Given the description of an element on the screen output the (x, y) to click on. 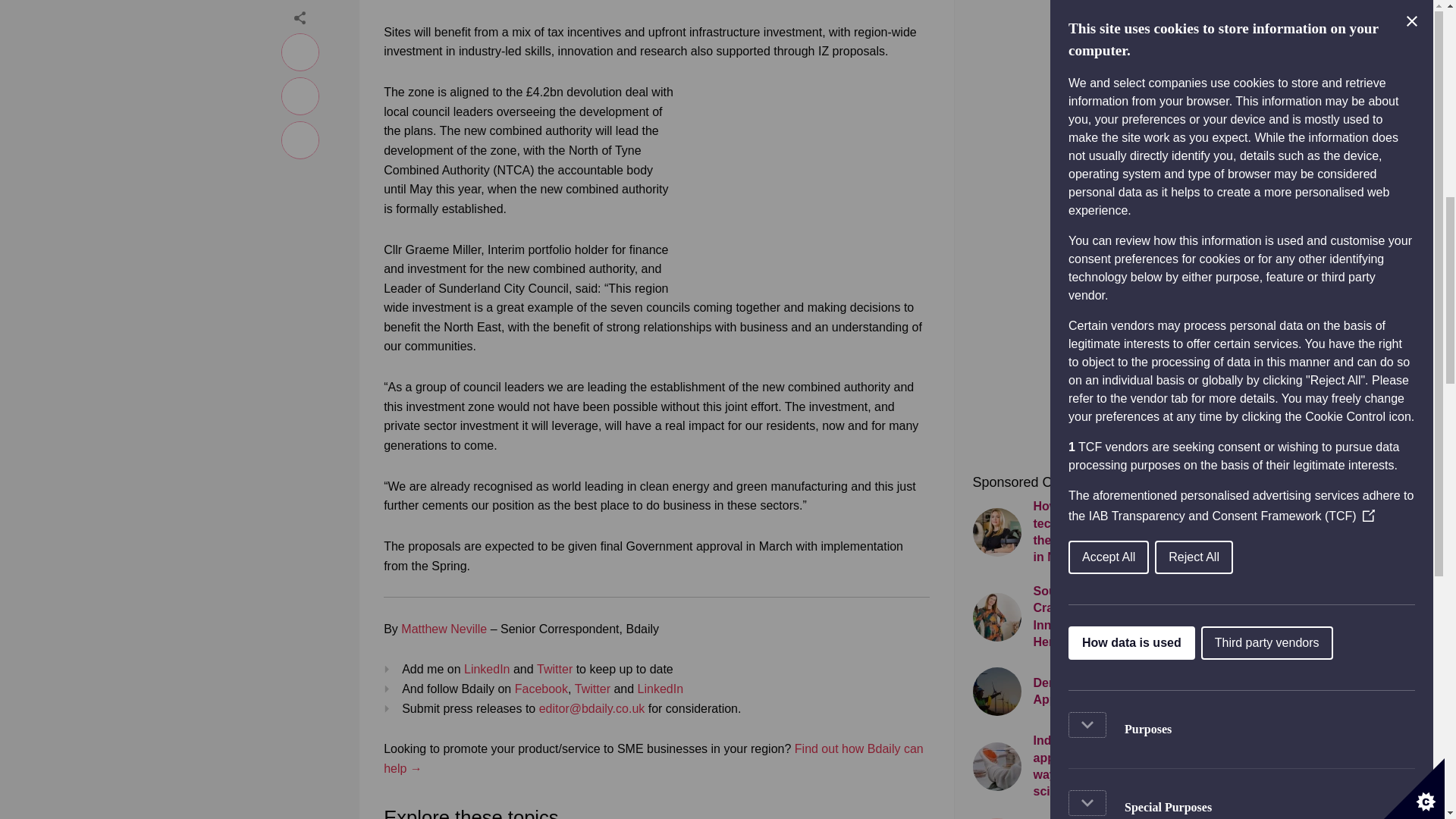
LinkedIn (487, 668)
LinkedIn (660, 688)
Facebook (541, 688)
Twitter (592, 688)
Twitter (554, 668)
Save Preferences and Exit (1157, 218)
Matthew Neville (443, 628)
